Given the description of an element on the screen output the (x, y) to click on. 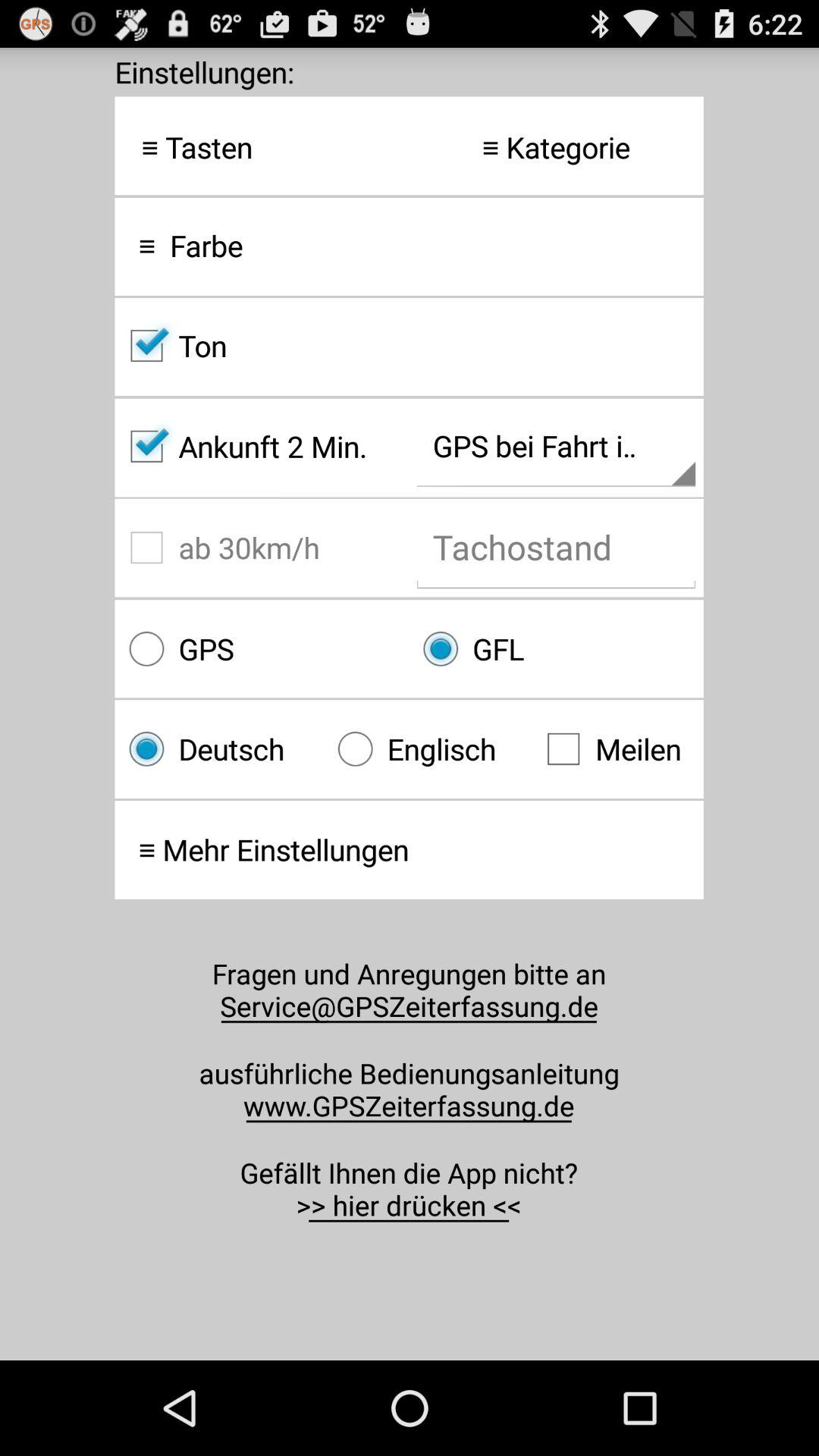
click ankunft 2 min. icon (261, 446)
